Given the description of an element on the screen output the (x, y) to click on. 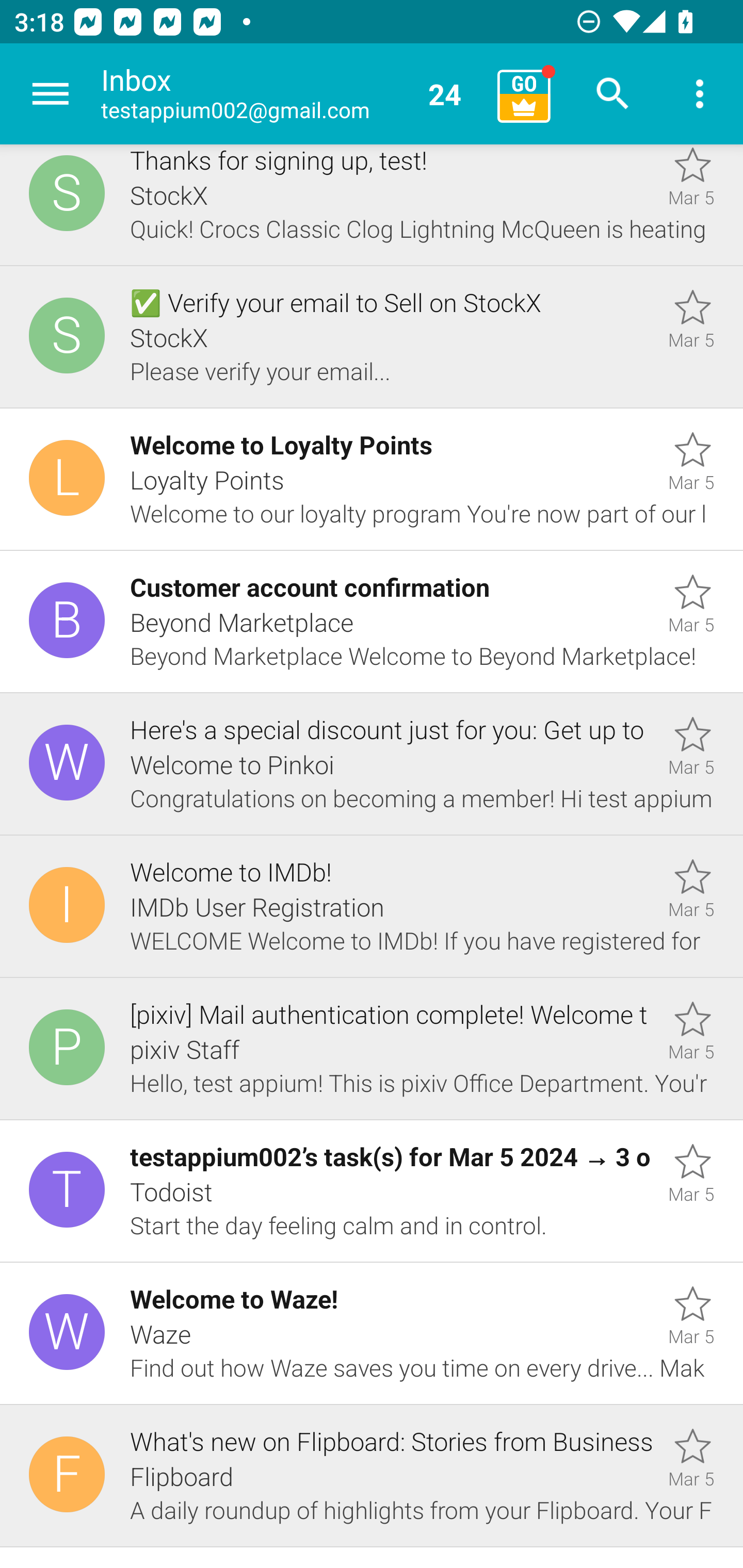
Navigate up (50, 93)
Inbox testappium002@gmail.com 24 (291, 93)
Search (612, 93)
More options (699, 93)
